Given the description of an element on the screen output the (x, y) to click on. 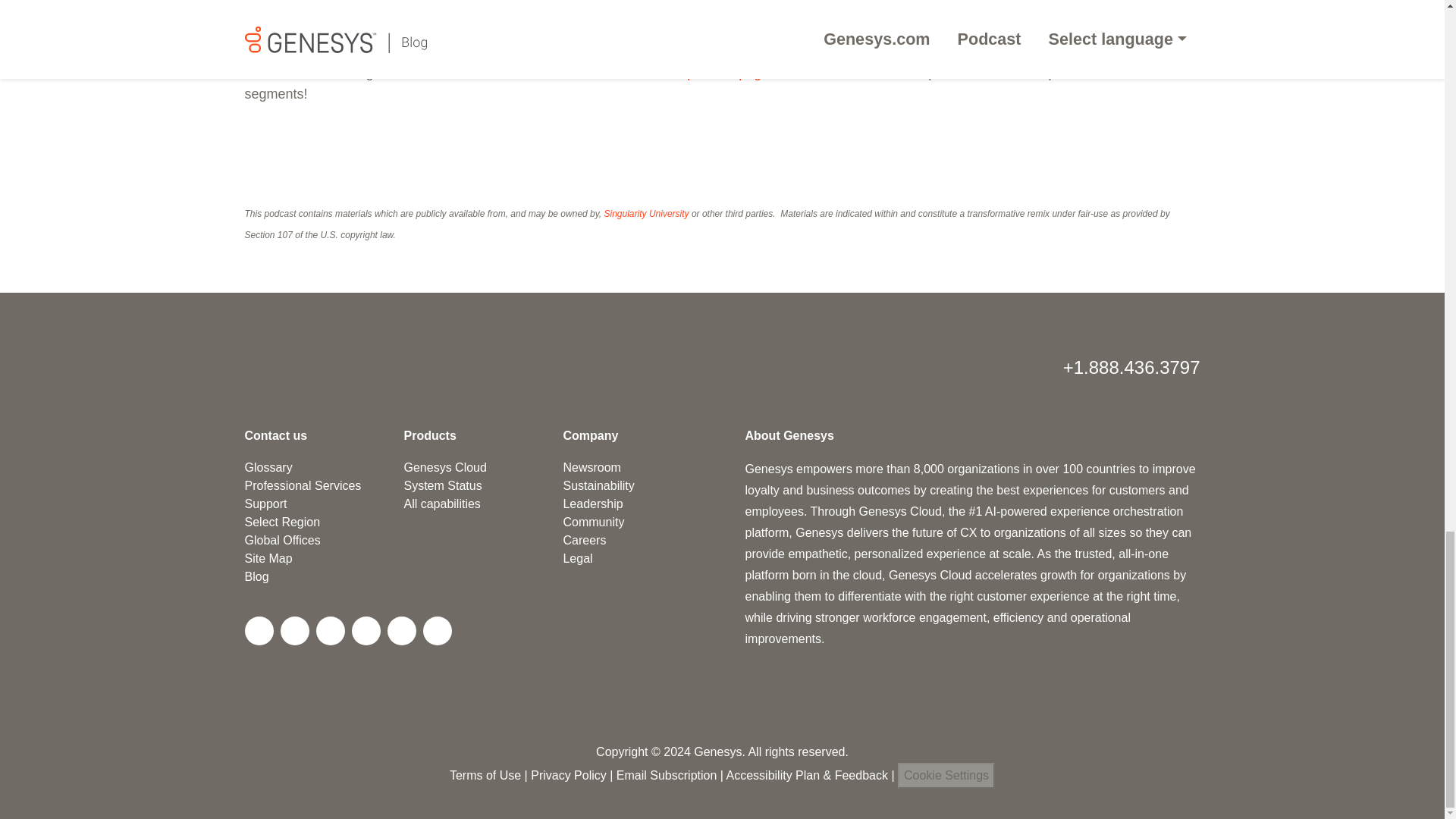
Contact us (275, 435)
Support (265, 503)
Singularity University (646, 213)
podcast page (727, 72)
Glossary (268, 467)
Global Offices (282, 540)
Professional Services (302, 485)
Select Region (282, 521)
